Given the description of an element on the screen output the (x, y) to click on. 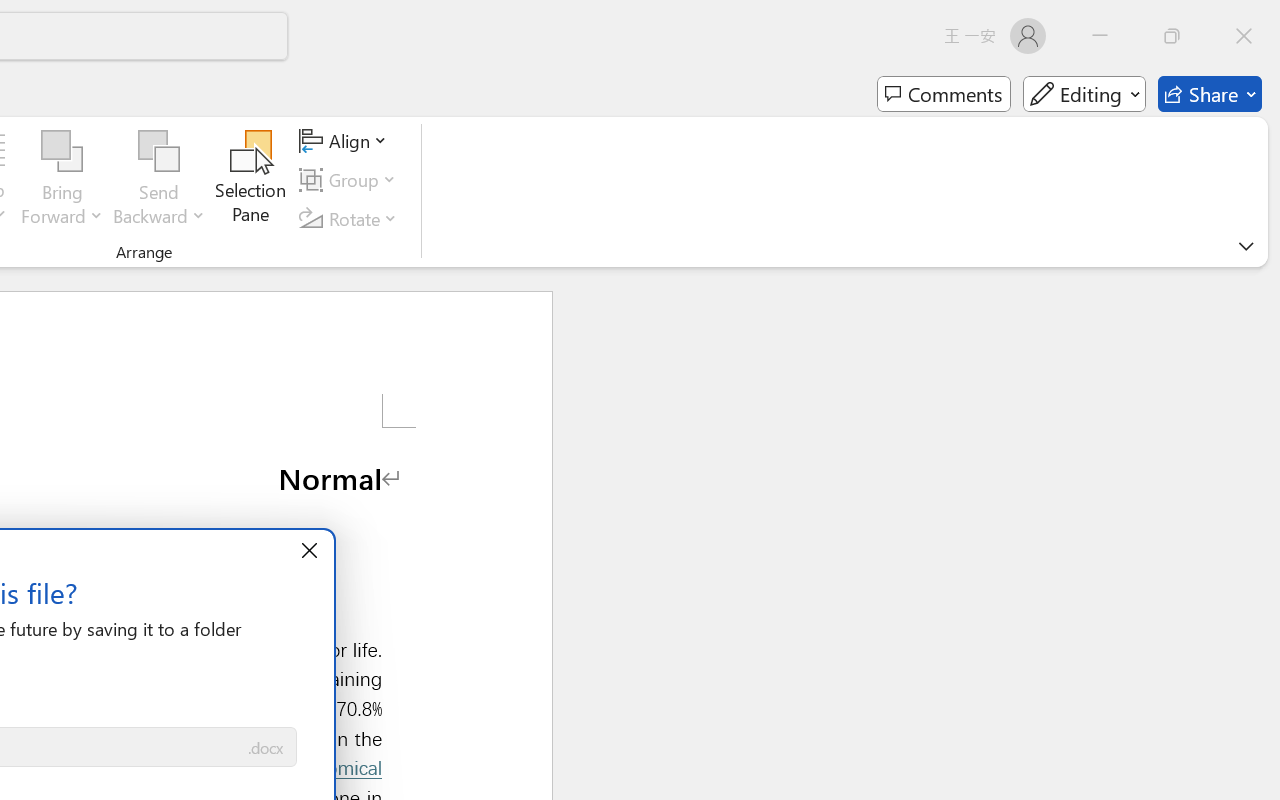
Selection Pane... (251, 179)
Bring Forward (62, 151)
Align (346, 141)
Group (351, 179)
Send Backward (159, 151)
Rotate (351, 218)
Send Backward (159, 179)
